Given the description of an element on the screen output the (x, y) to click on. 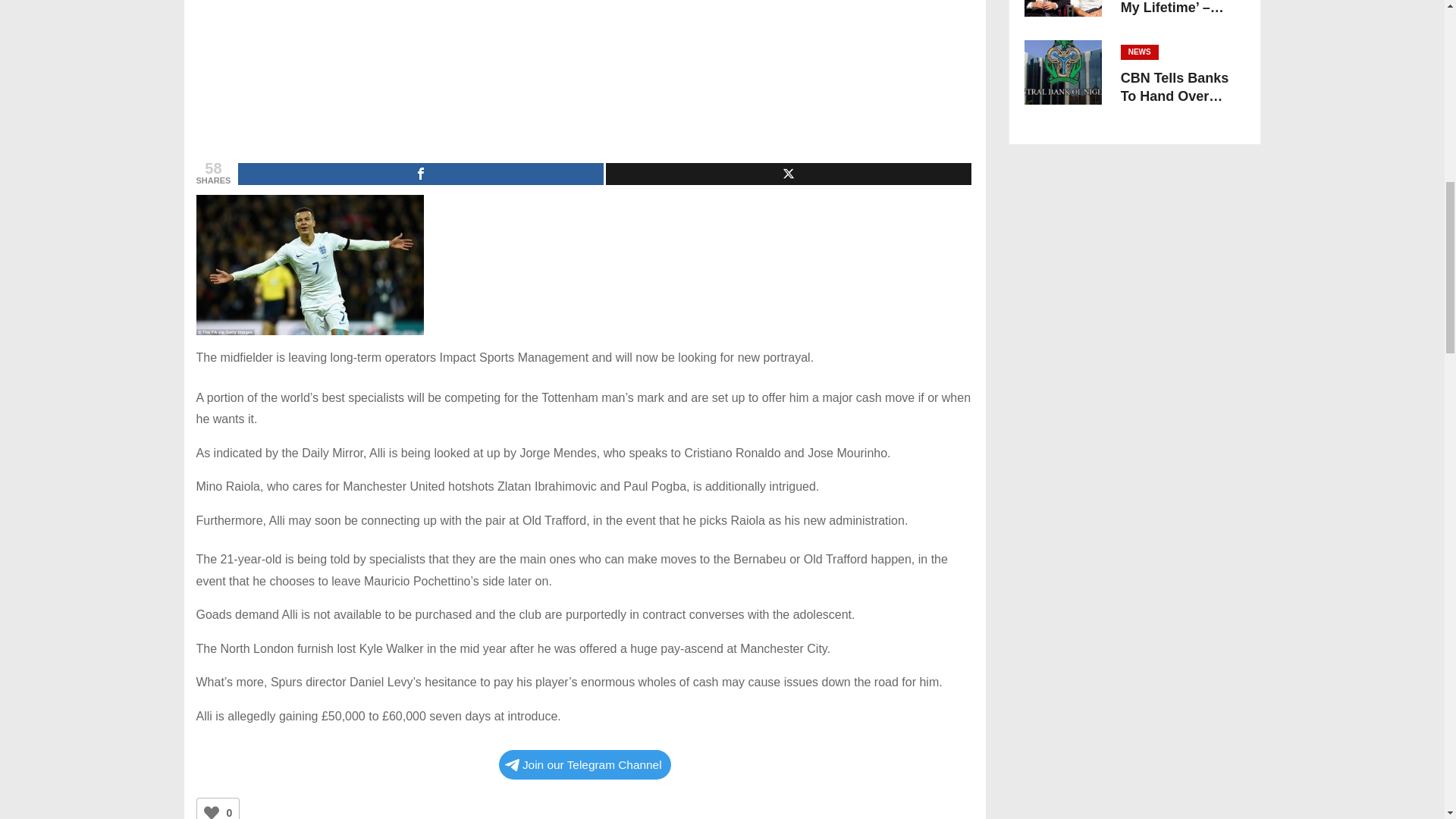
Advertisement (584, 74)
Join our Telegram Channel (585, 764)
Tweet (788, 173)
Share (421, 173)
